Given the description of an element on the screen output the (x, y) to click on. 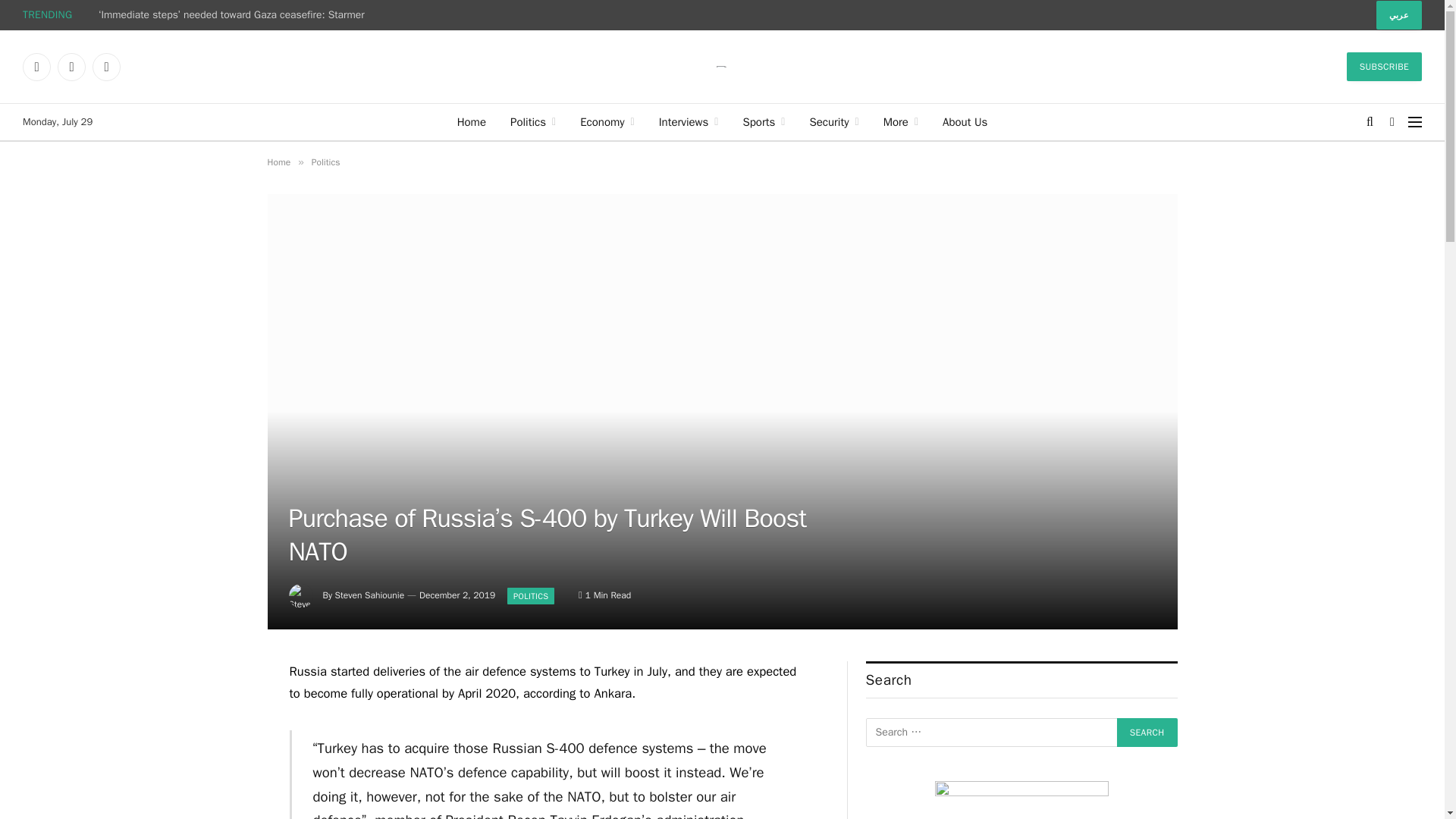
Facebook (36, 67)
Economy (606, 122)
SUBSCRIBE (1384, 66)
Search (1146, 732)
Search (1146, 732)
Instagram (106, 67)
Home (471, 122)
Politics (532, 122)
